Given the description of an element on the screen output the (x, y) to click on. 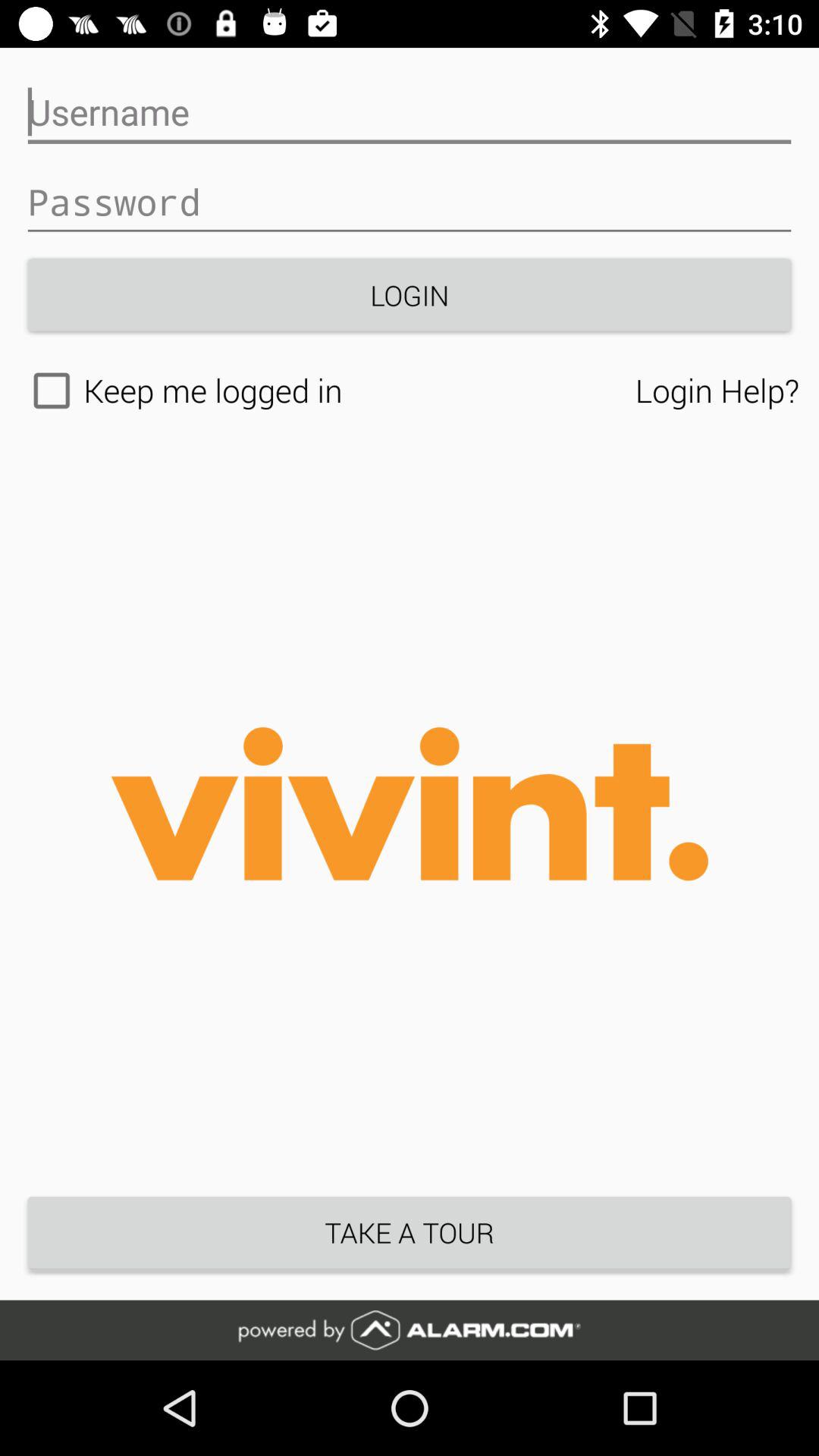
launch icon to the left of the login help? item (327, 390)
